Given the description of an element on the screen output the (x, y) to click on. 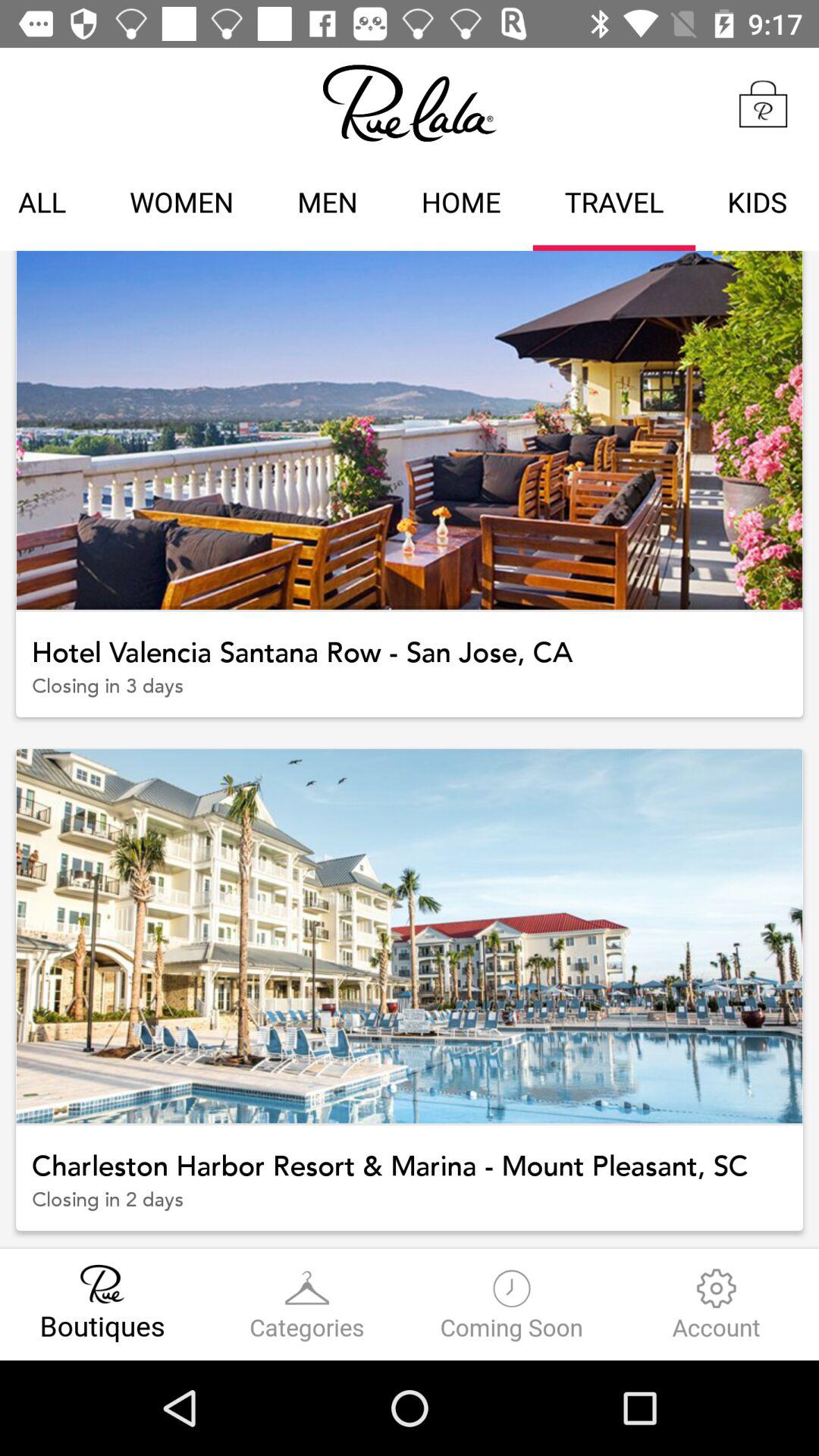
swipe to home item (460, 204)
